Given the description of an element on the screen output the (x, y) to click on. 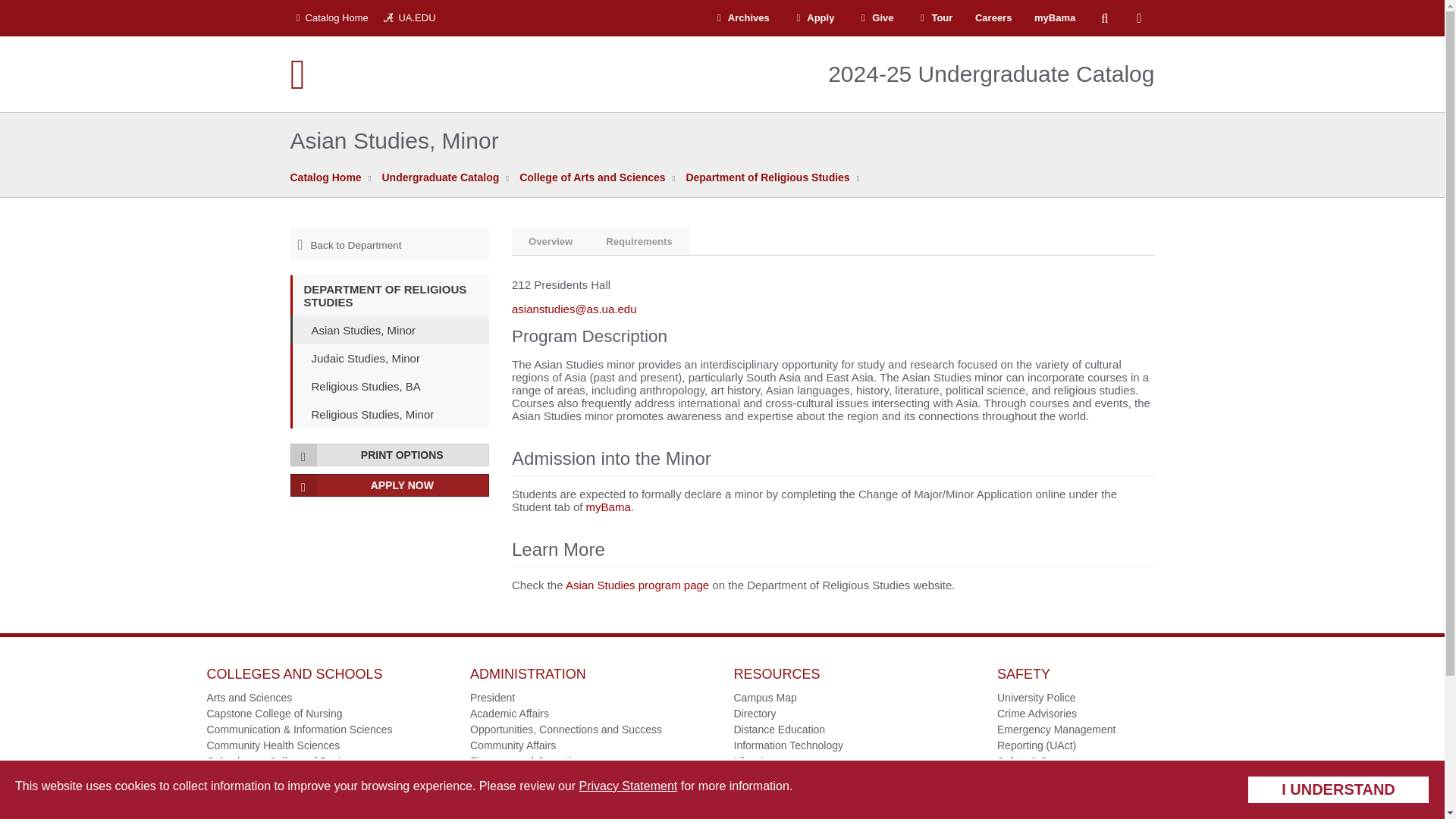
  Catalog Home (331, 18)
Undergraduate Catalog (440, 177)
Added content (608, 506)
Added content (1004, 493)
Search (1104, 18)
Search (1104, 18)
Added content (878, 493)
 Tour (933, 18)
 Apply (812, 18)
myBama (1054, 18)
